Given the description of an element on the screen output the (x, y) to click on. 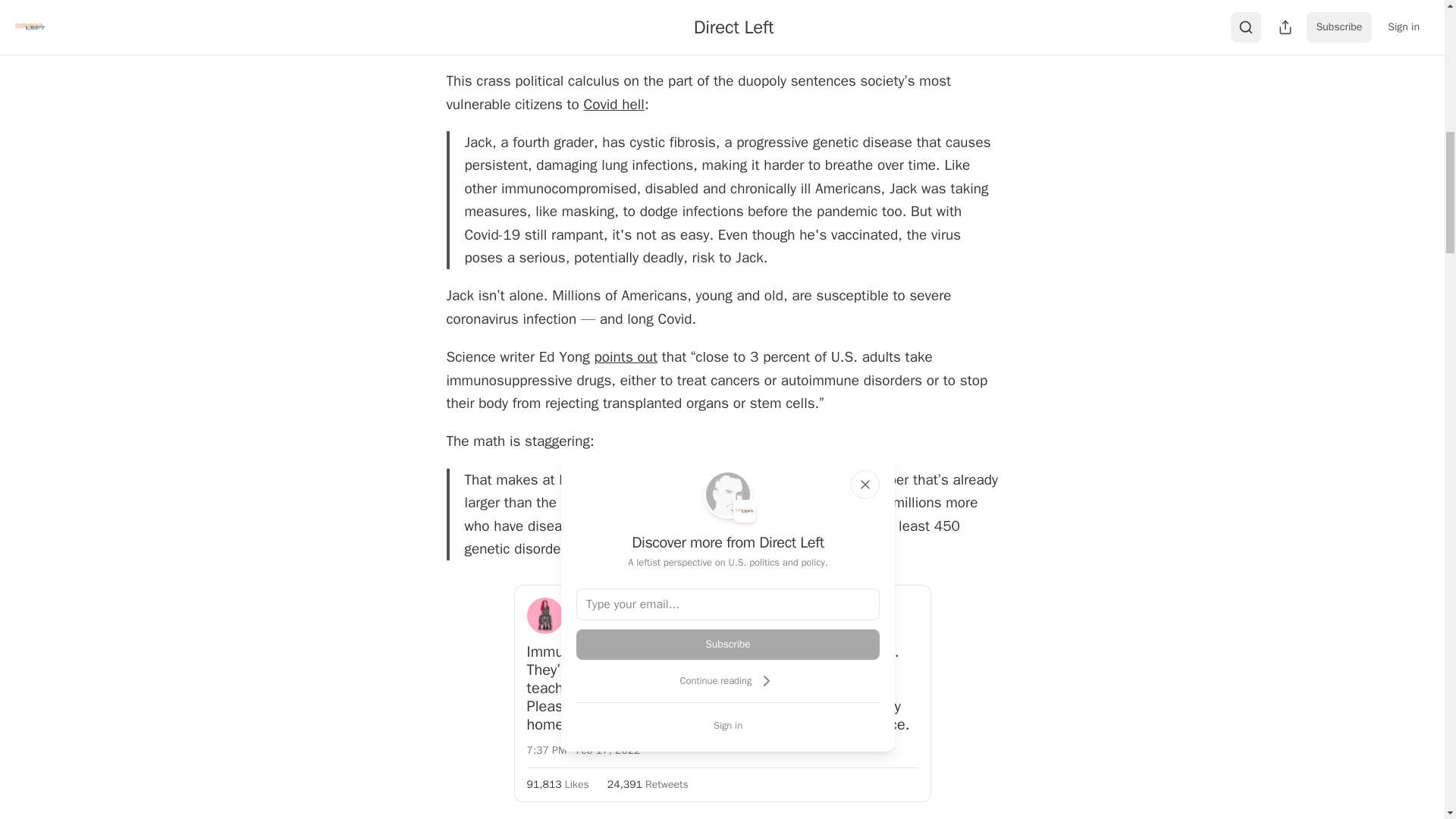
points out (626, 357)
Sign in (727, 725)
Subscribe (727, 644)
Covid hell (613, 104)
